Given the description of an element on the screen output the (x, y) to click on. 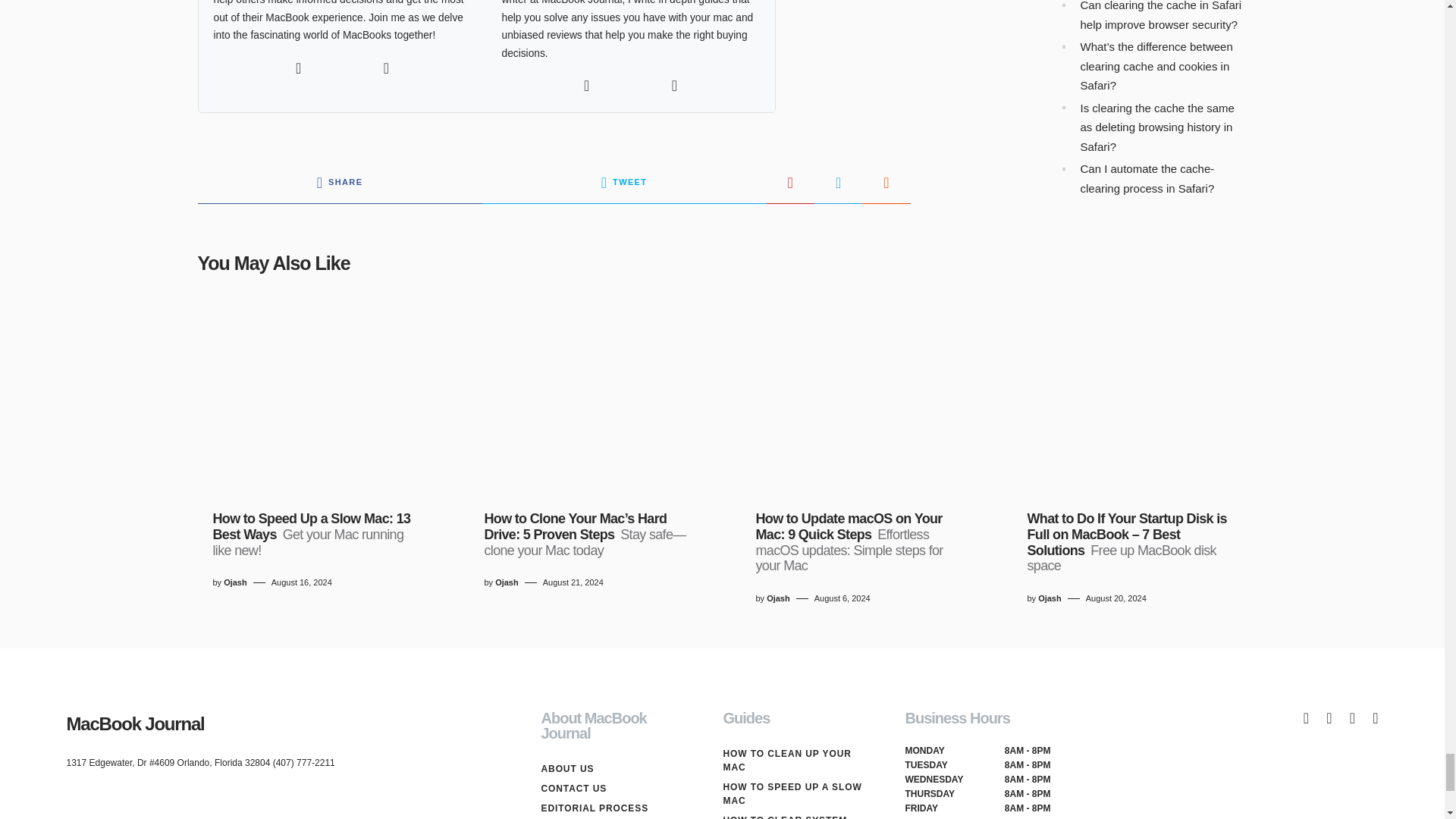
View all posts by Ojash (506, 582)
View all posts by Ojash (778, 598)
View all posts by Ojash (235, 582)
View all posts by Ojash (1049, 598)
